Given the description of an element on the screen output the (x, y) to click on. 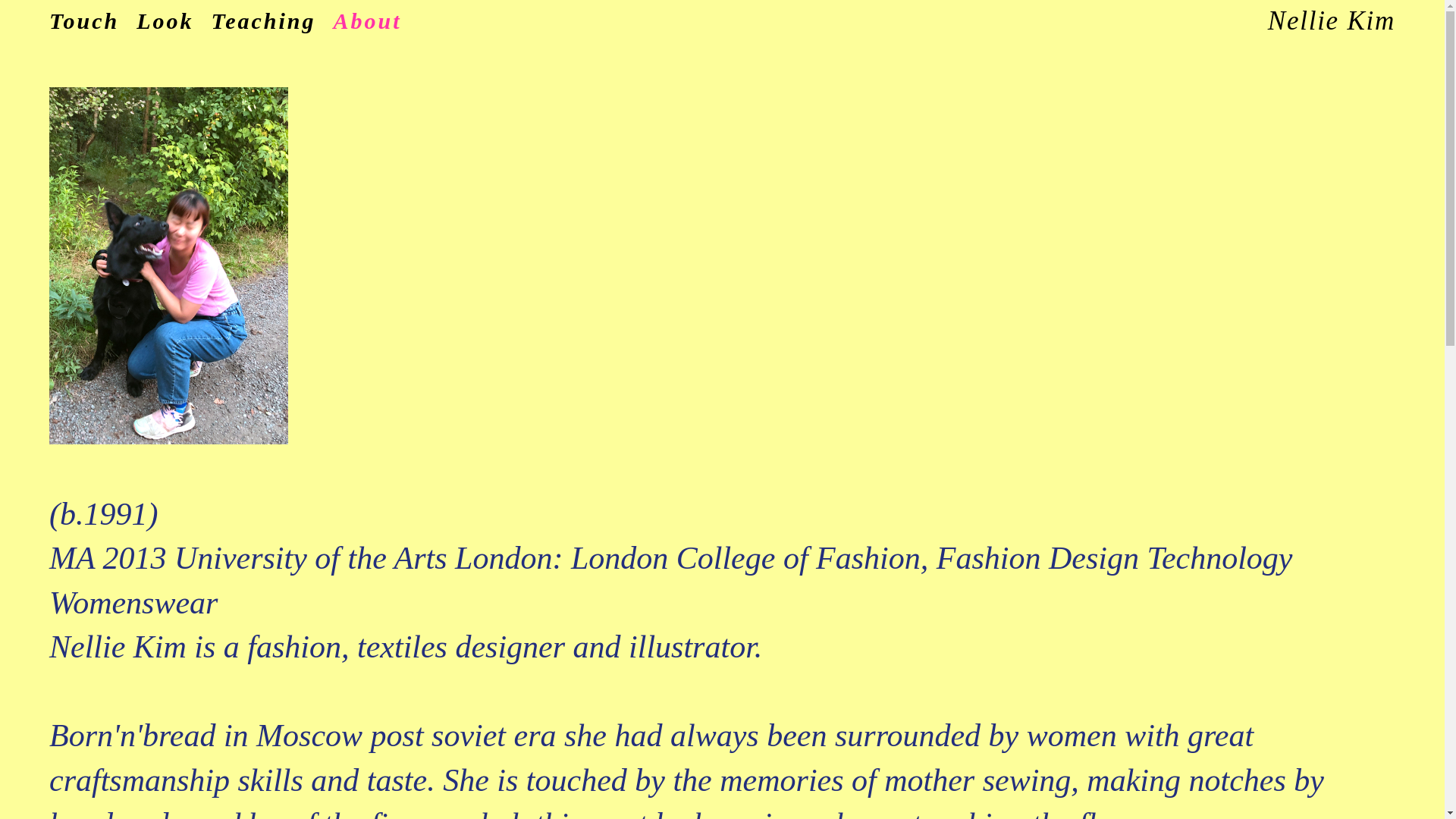
Teaching (263, 20)
Nellie Kim (1331, 20)
Touch (84, 20)
About (367, 20)
Look (164, 20)
